Given the description of an element on the screen output the (x, y) to click on. 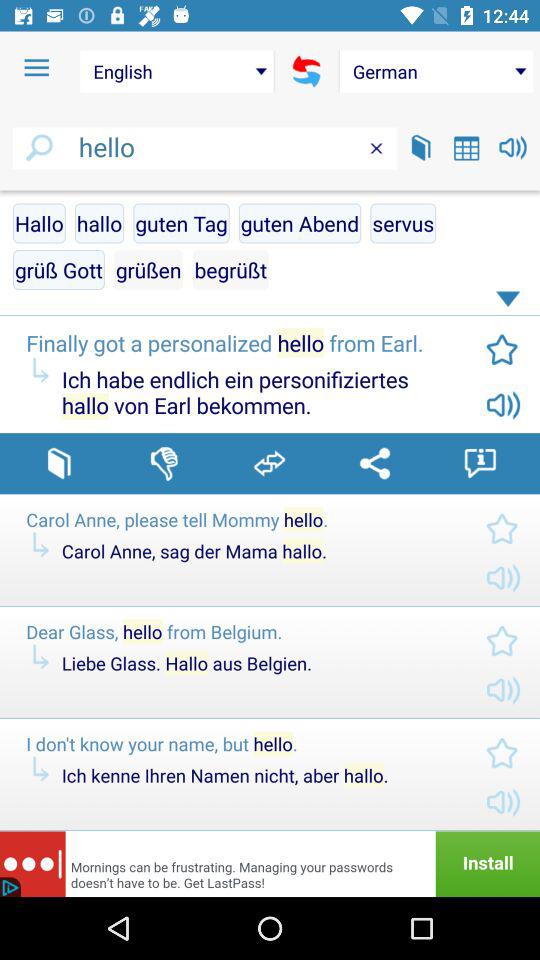
go back (306, 71)
